Given the description of an element on the screen output the (x, y) to click on. 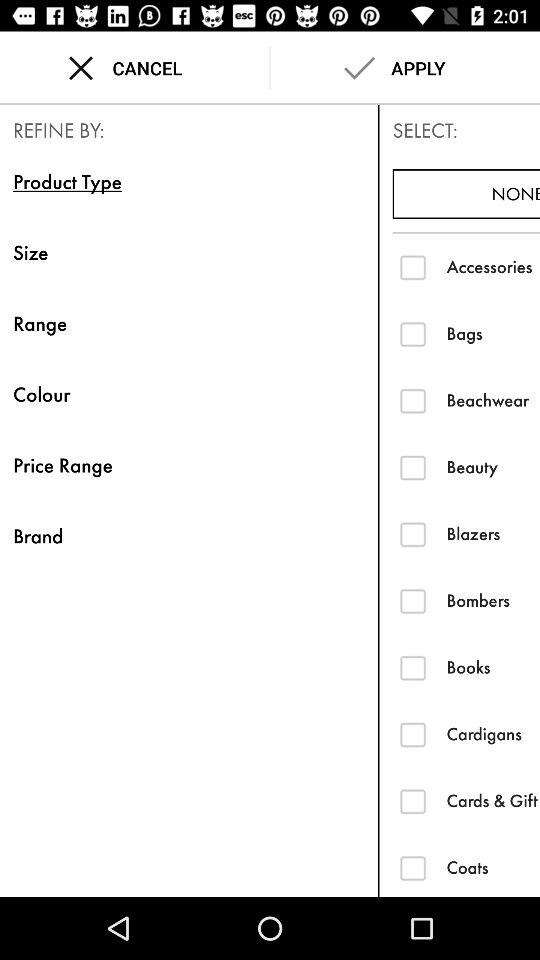
select books (412, 667)
